Given the description of an element on the screen output the (x, y) to click on. 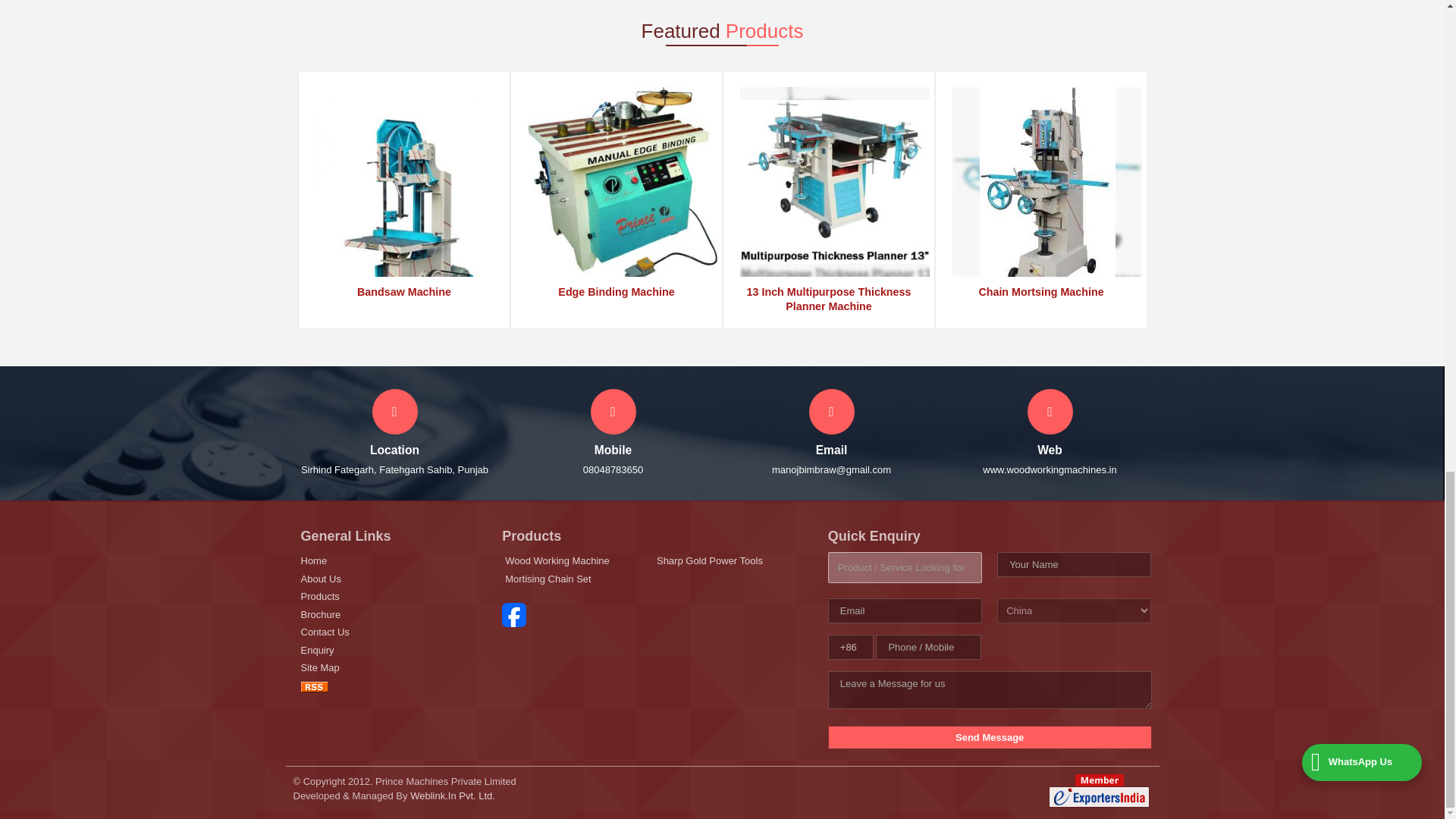
Send Message (989, 737)
